Given the description of an element on the screen output the (x, y) to click on. 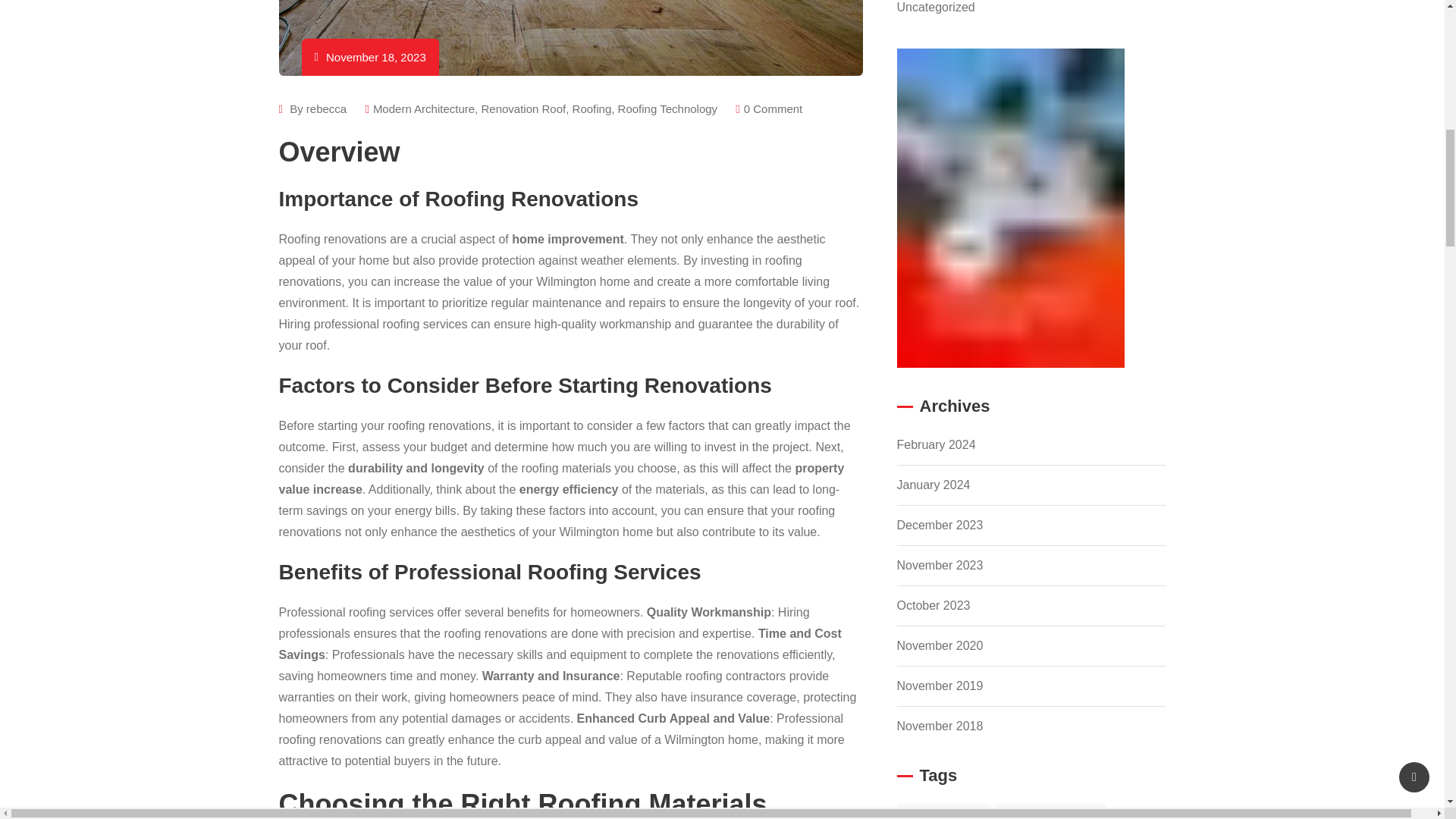
rebecca (325, 108)
Roofing Technology (667, 108)
Renovation Roof (523, 108)
Roofing (591, 108)
Modern Architecture (423, 108)
